Given the description of an element on the screen output the (x, y) to click on. 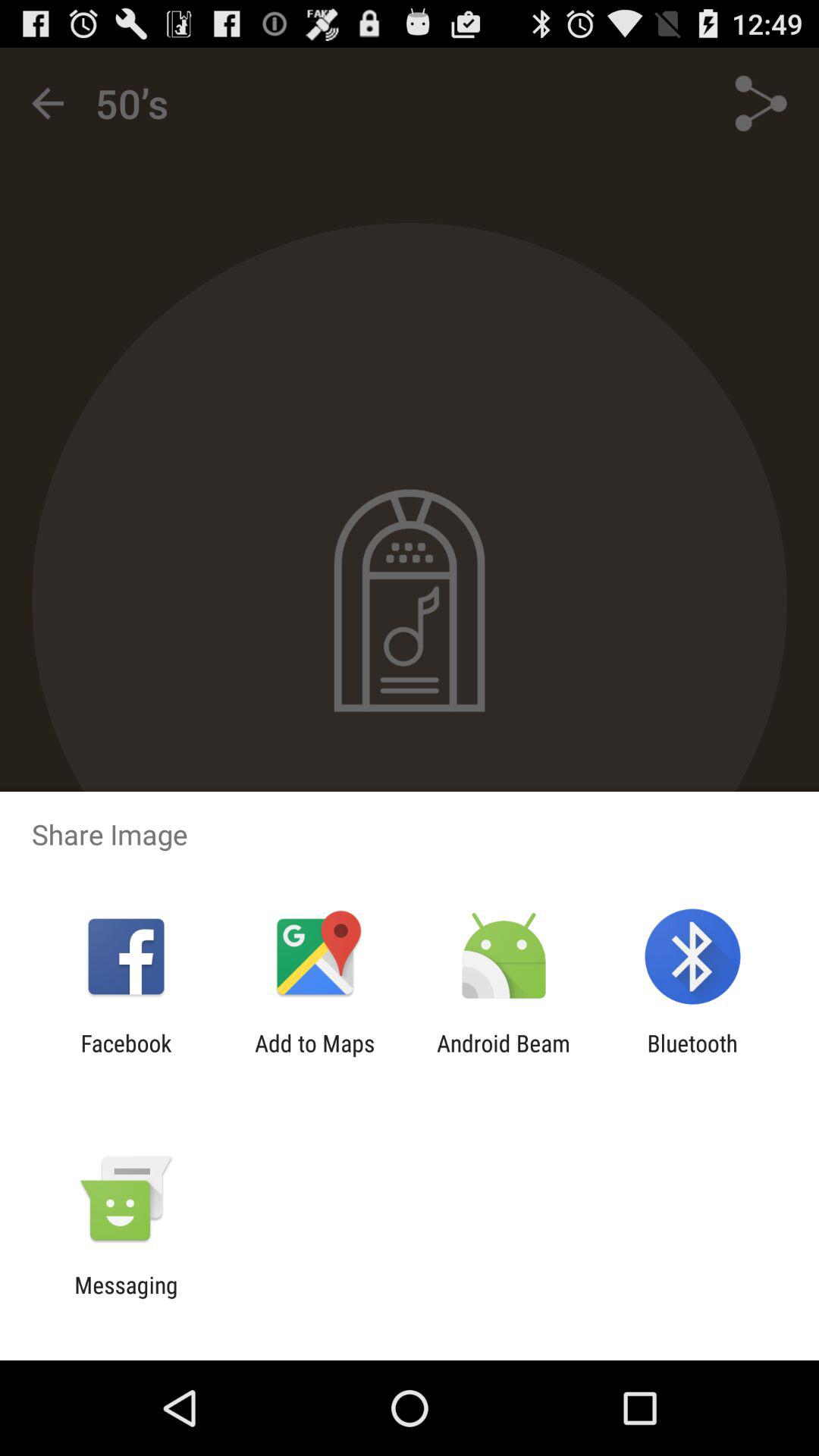
click icon next to bluetooth (503, 1056)
